Given the description of an element on the screen output the (x, y) to click on. 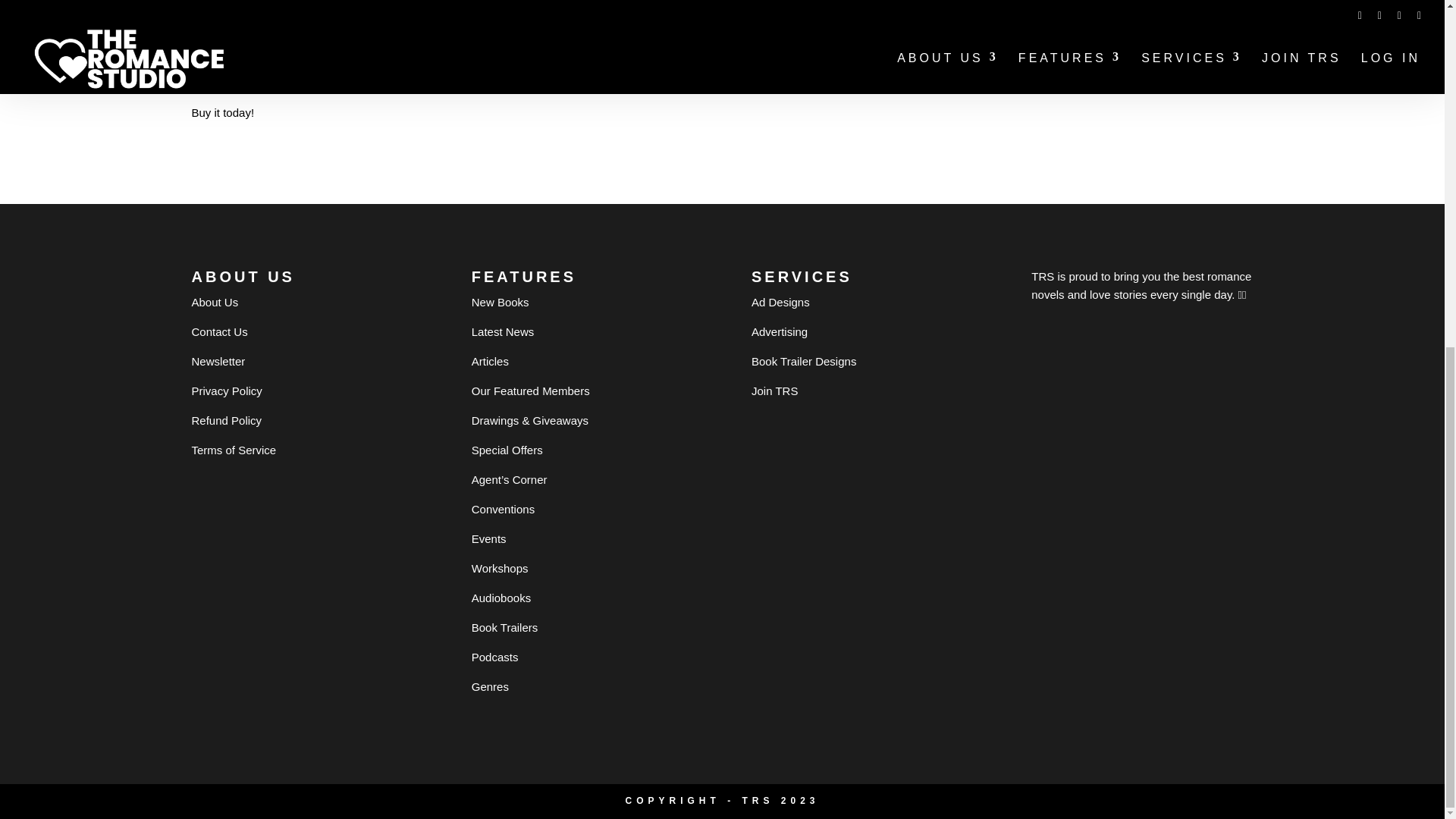
Buy it today! (221, 112)
About Us (214, 301)
Contact Us (218, 331)
